Given the description of an element on the screen output the (x, y) to click on. 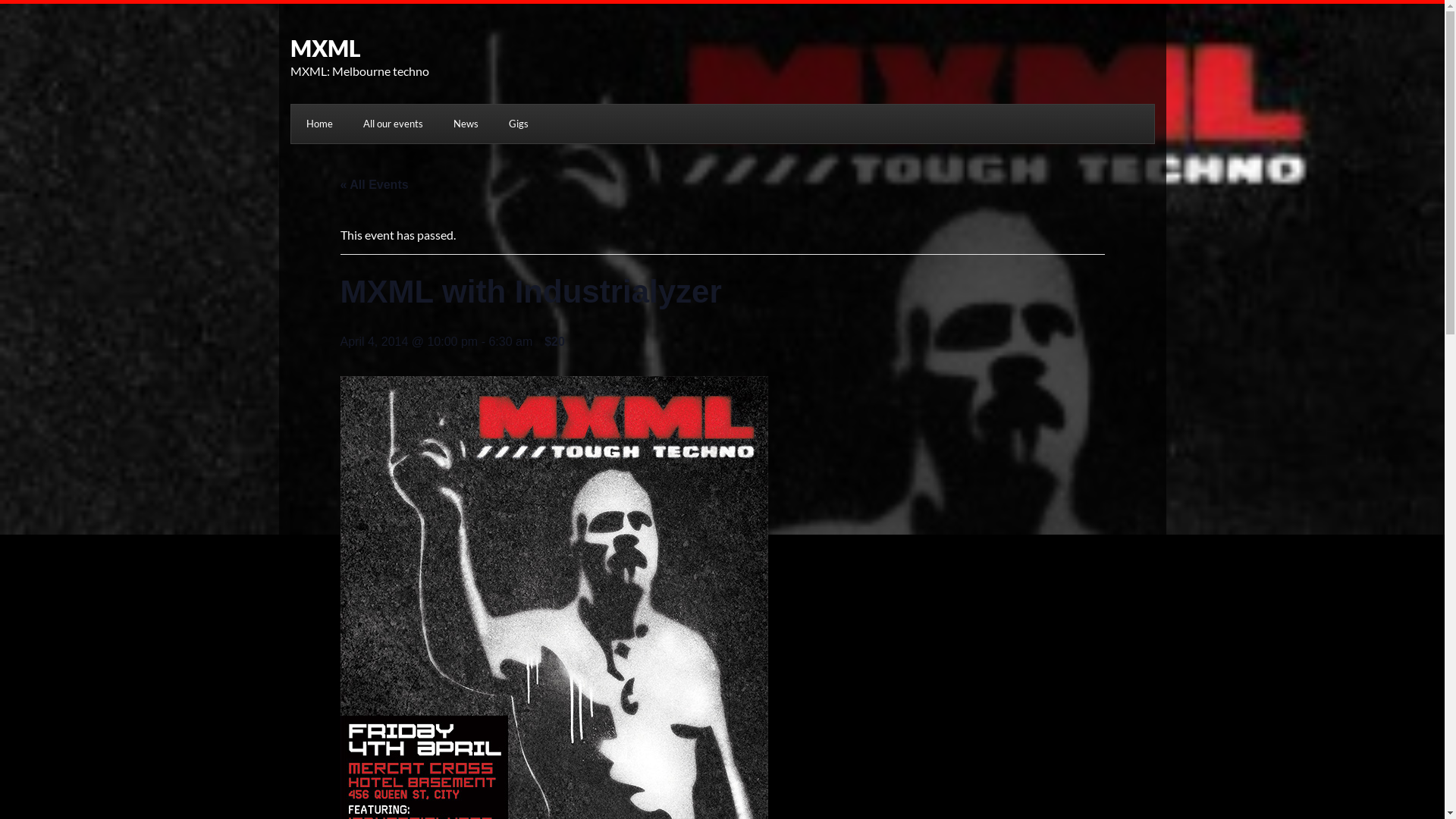
All our events Element type: text (392, 123)
News Element type: text (465, 123)
Home Element type: text (319, 123)
Gigs Element type: text (517, 123)
MXML Element type: text (324, 47)
